Given the description of an element on the screen output the (x, y) to click on. 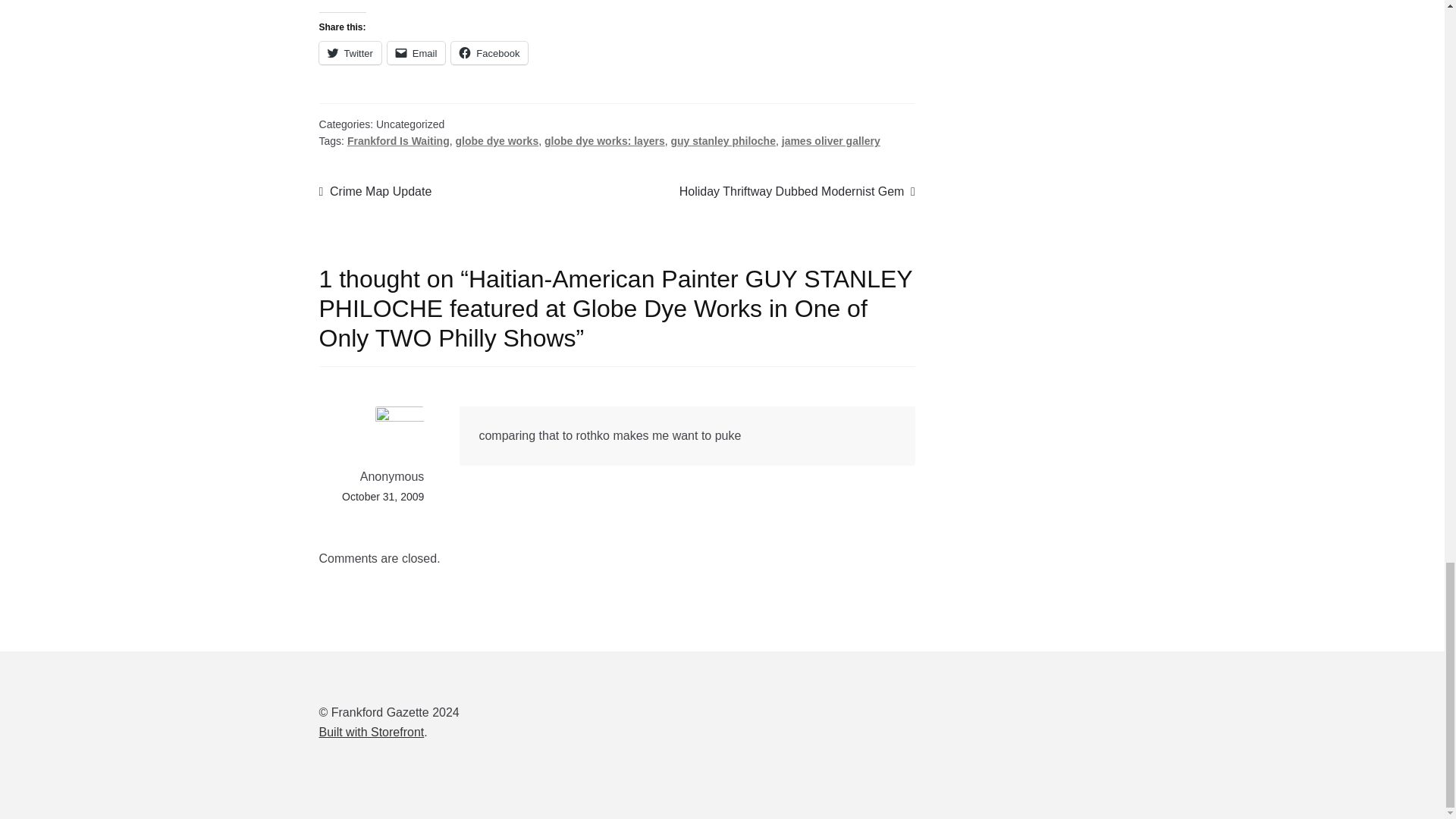
Click to email a link to a friend (416, 52)
Click to share on Twitter (349, 52)
Click to share on Facebook (489, 52)
